Given the description of an element on the screen output the (x, y) to click on. 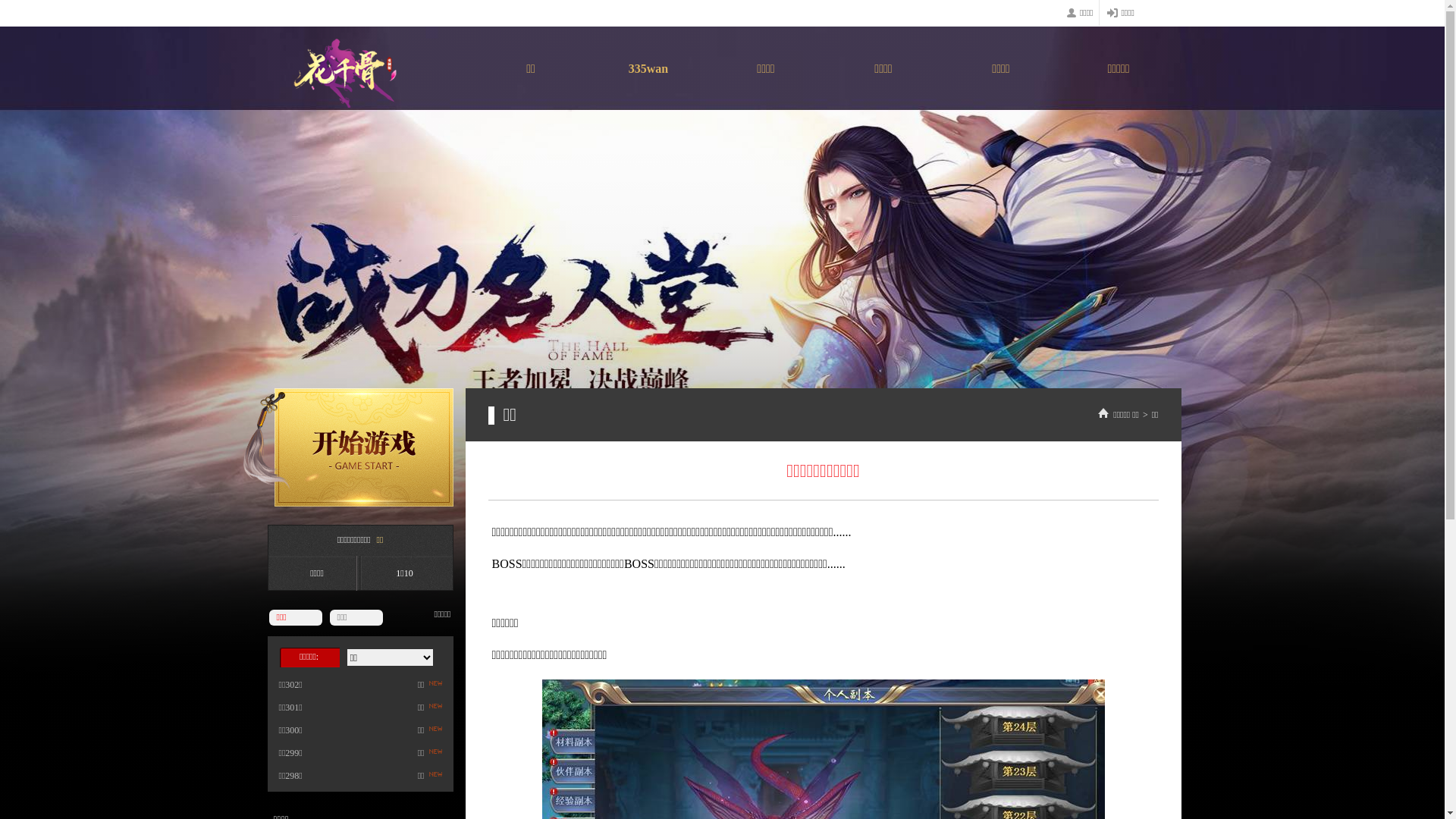
335wan Element type: text (648, 71)
